Given the description of an element on the screen output the (x, y) to click on. 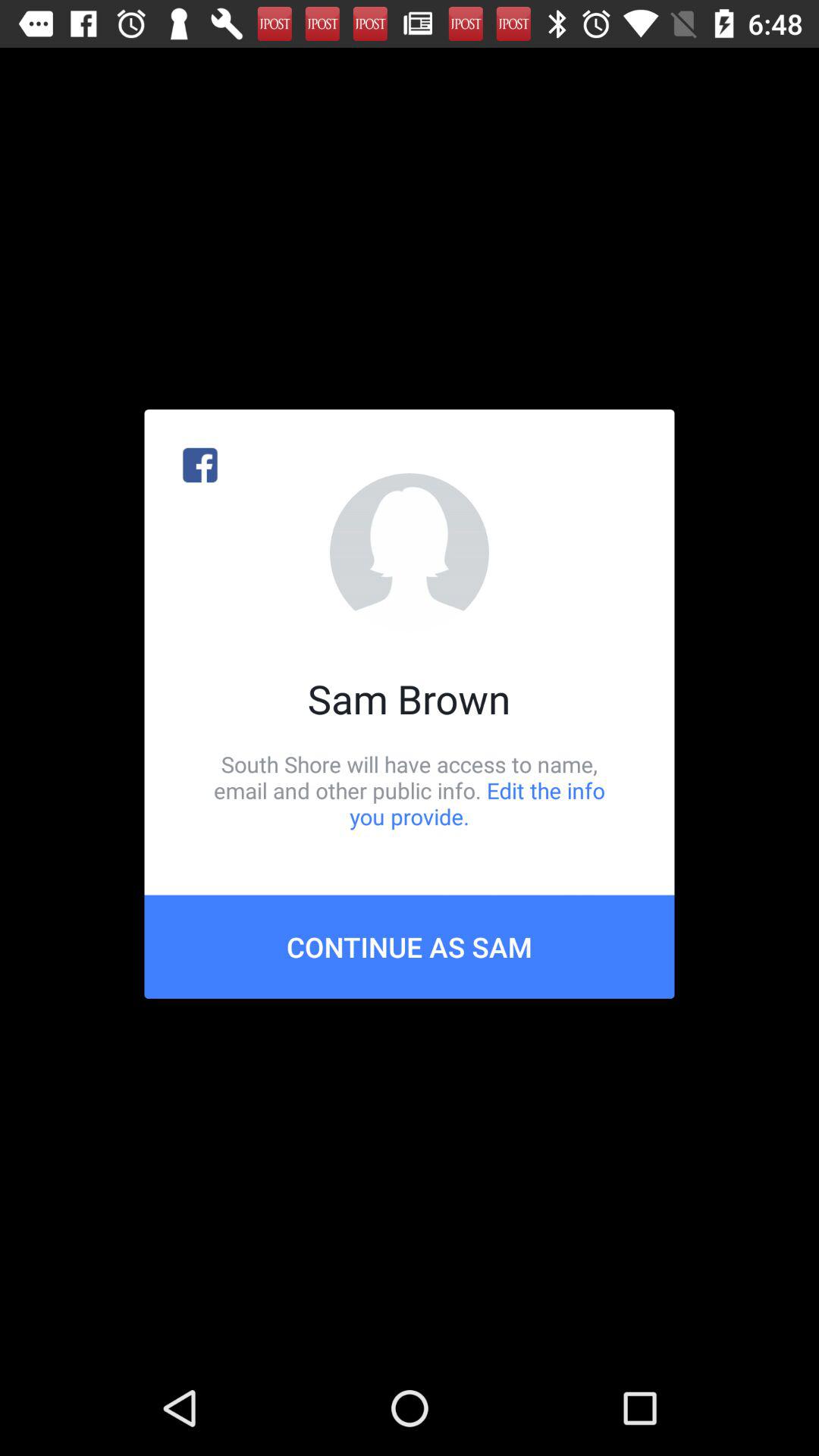
click icon below south shore will icon (409, 946)
